Given the description of an element on the screen output the (x, y) to click on. 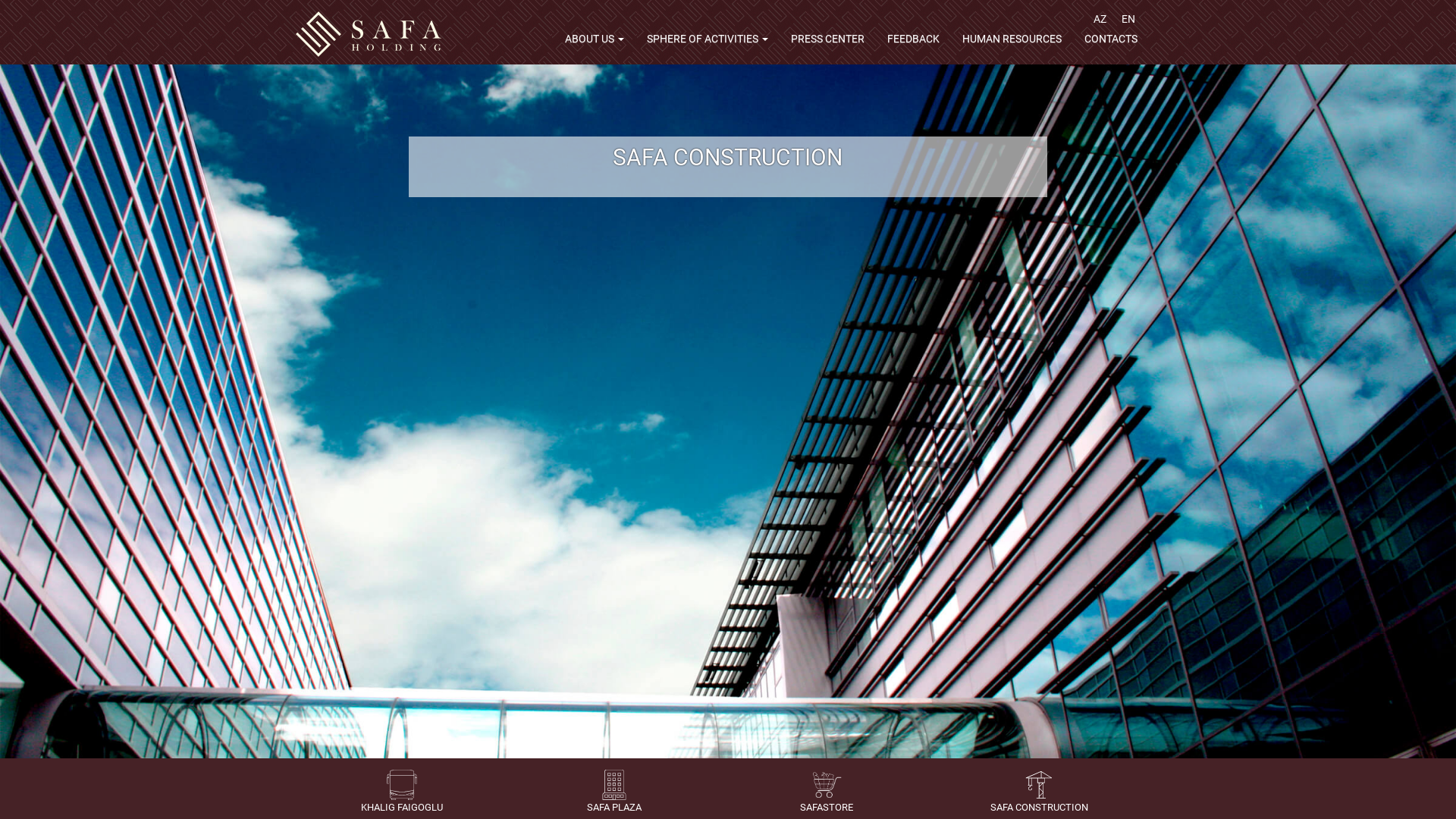
KHALIG FAIGOGLU Element type: text (401, 792)
PRESS CENTER Element type: text (827, 44)
SAFA PLAZA Element type: text (614, 792)
SPHERE OF ACTIVITIES Element type: text (707, 44)
ABOUT US Element type: text (594, 44)
SAFASTORE Element type: text (826, 792)
SAFA CONSTRUCTION Element type: text (1038, 792)
FEEDBACK Element type: text (912, 44)
AZ Element type: text (1099, 18)
EN Element type: text (1128, 18)
CONTACTS Element type: text (1110, 44)
HUMAN RESOURCES Element type: text (1011, 44)
